Given the description of an element on the screen output the (x, y) to click on. 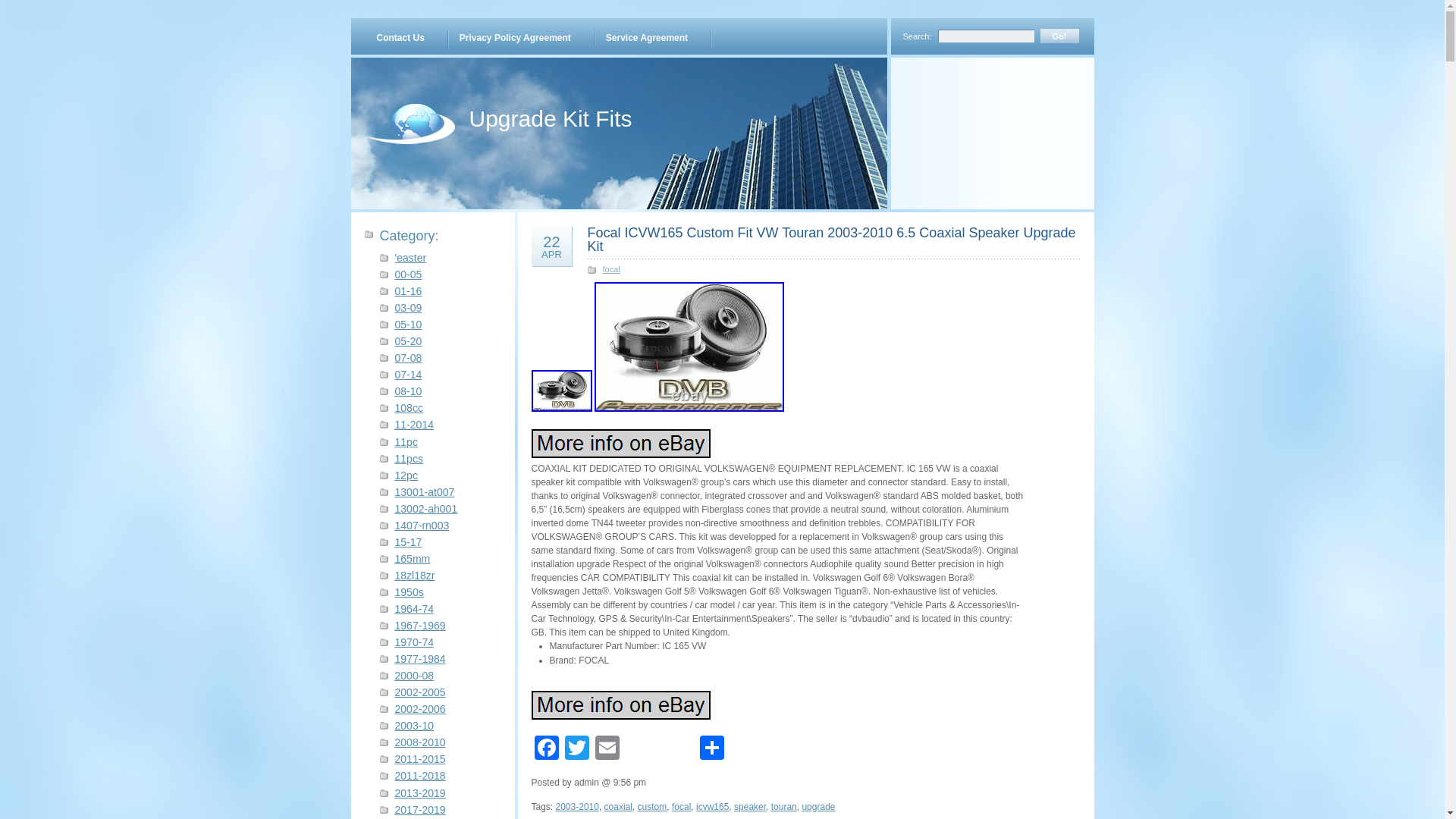
2002-2005 (419, 692)
Twitter (575, 749)
1967-1969 (419, 625)
07-14 (408, 374)
15-17 (408, 541)
2011-2015 (419, 758)
Service Agreement (646, 37)
Privacy Policy Agreement (514, 37)
Go! (1059, 35)
13001-at007 (424, 491)
